Given the description of an element on the screen output the (x, y) to click on. 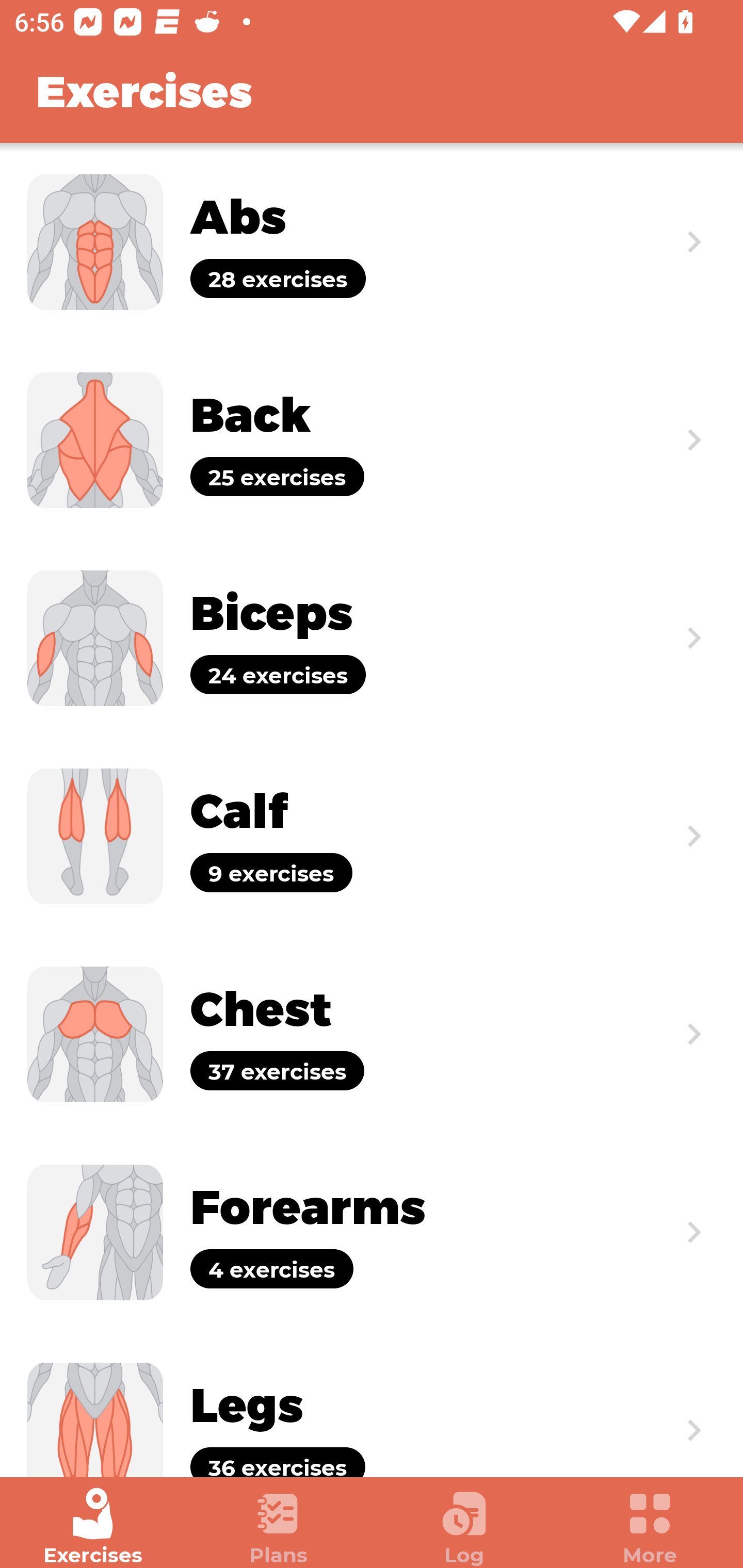
Exercise Abs 28 exercises (371, 241)
Exercise Back 25 exercises (371, 439)
Exercise Biceps 24 exercises (371, 637)
Exercise Calf 9 exercises (371, 836)
Exercise Chest 37 exercises (371, 1033)
Exercise Forearms 4 exercises (371, 1232)
Exercise Legs 36 exercises (371, 1404)
Exercises (92, 1527)
Plans (278, 1527)
Log (464, 1527)
More (650, 1527)
